Given the description of an element on the screen output the (x, y) to click on. 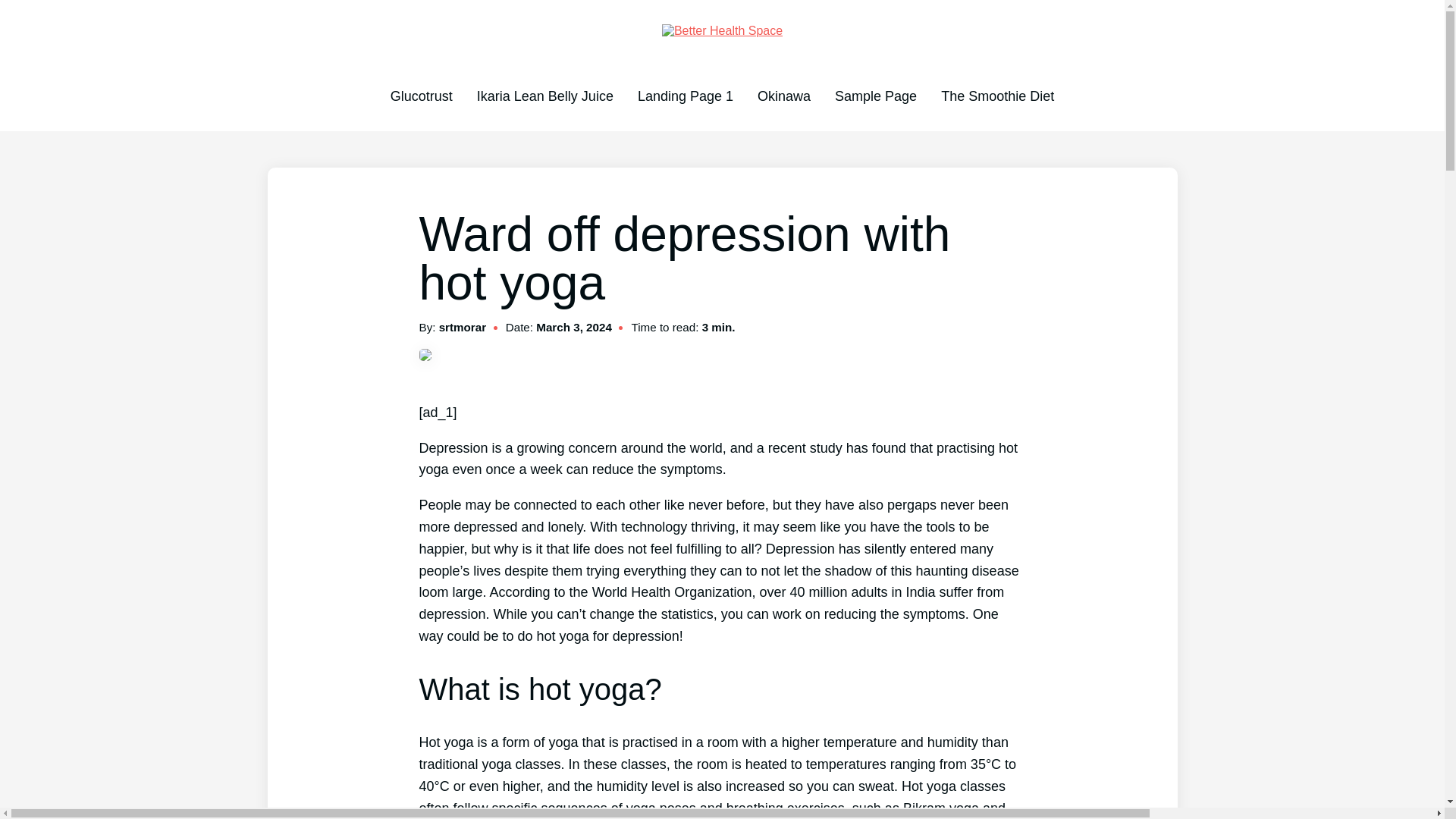
Landing Page 1 (685, 96)
Okinawa (783, 96)
The Smoothie Diet (997, 96)
Ikaria Lean Belly Juice (544, 96)
Sample Page (875, 96)
Glucotrust (421, 96)
